Given the description of an element on the screen output the (x, y) to click on. 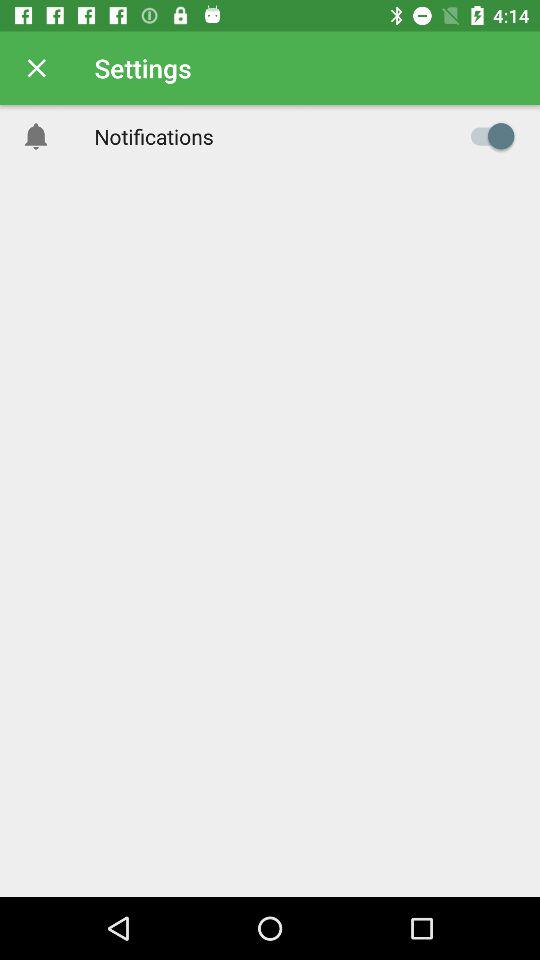
hamburger button for options (487, 136)
